Given the description of an element on the screen output the (x, y) to click on. 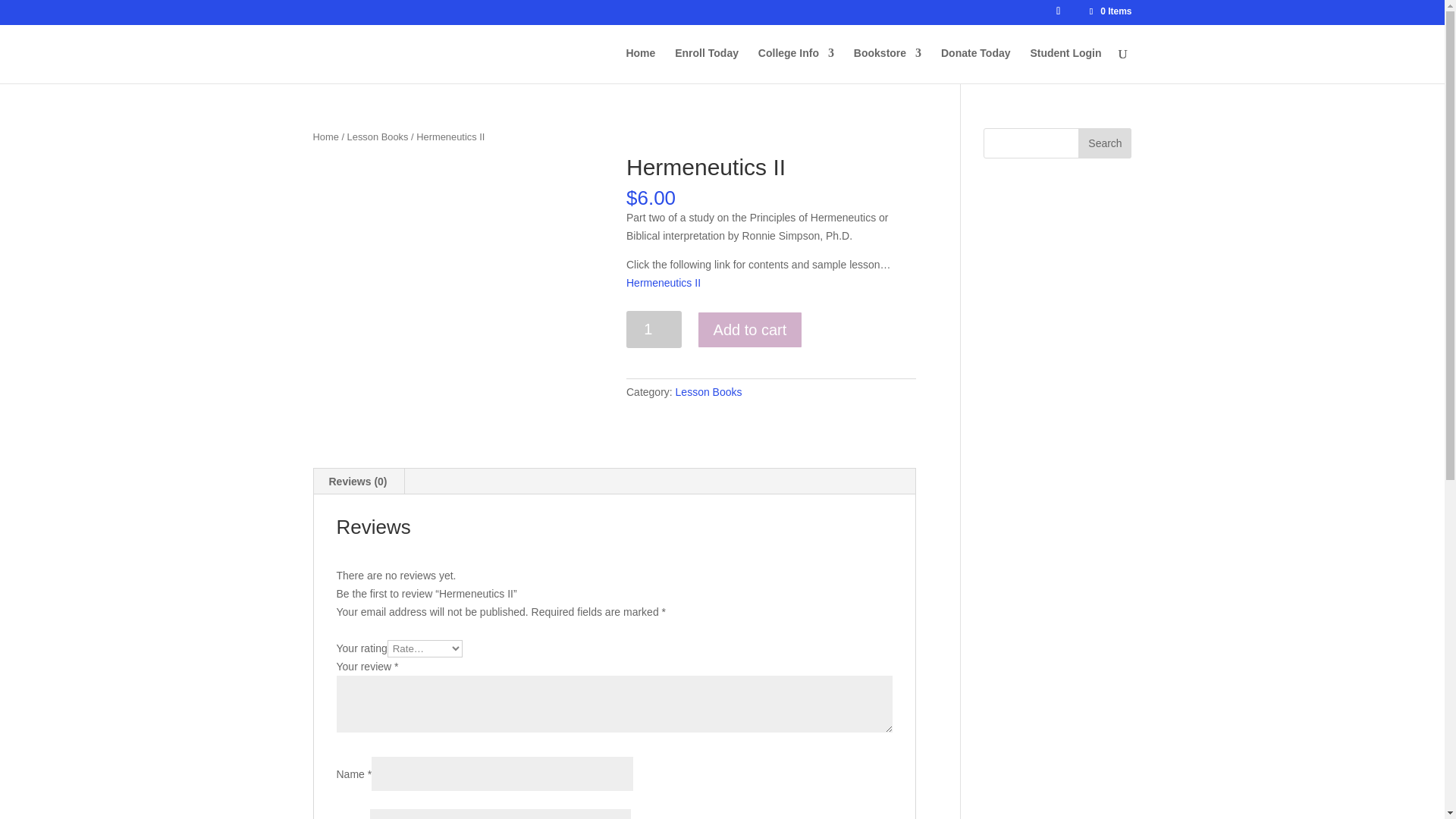
1 (653, 329)
College Info (796, 65)
Add to cart (750, 329)
Search (1104, 142)
Hermeneutics II (663, 282)
Home (325, 136)
Student Login (1064, 65)
Donate Today (975, 65)
Qty (653, 329)
Lesson Books (708, 391)
Lesson Books (378, 136)
0 Items (1108, 10)
Bookstore (887, 65)
Enroll Today (706, 65)
Search (1104, 142)
